Given the description of an element on the screen output the (x, y) to click on. 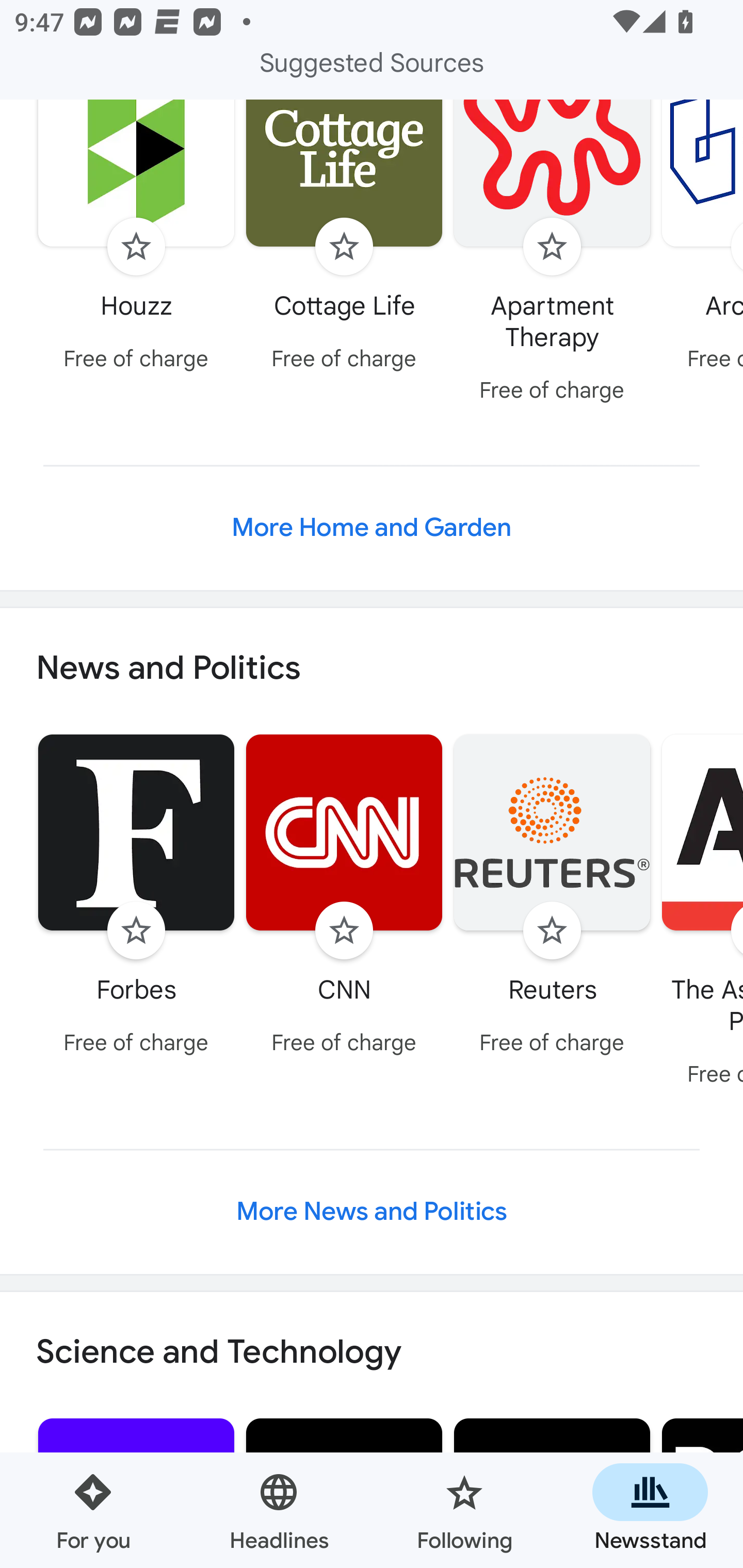
Follow Houzz Free of charge (136, 240)
Follow Cottage Life Free of charge (344, 240)
Follow Apartment Therapy Free of charge (552, 255)
Follow (135, 246)
Follow (343, 246)
Follow (552, 246)
More Home and Garden (371, 527)
News and Politics (371, 668)
Follow Forbes Free of charge (136, 897)
Follow CNN Free of charge (344, 897)
Follow Reuters Free of charge (552, 897)
Follow (135, 930)
Follow (343, 930)
Follow (552, 930)
More News and Politics (371, 1211)
Science and Technology (371, 1352)
For you (92, 1509)
Headlines (278, 1509)
Following (464, 1509)
Newsstand (650, 1509)
